Given the description of an element on the screen output the (x, y) to click on. 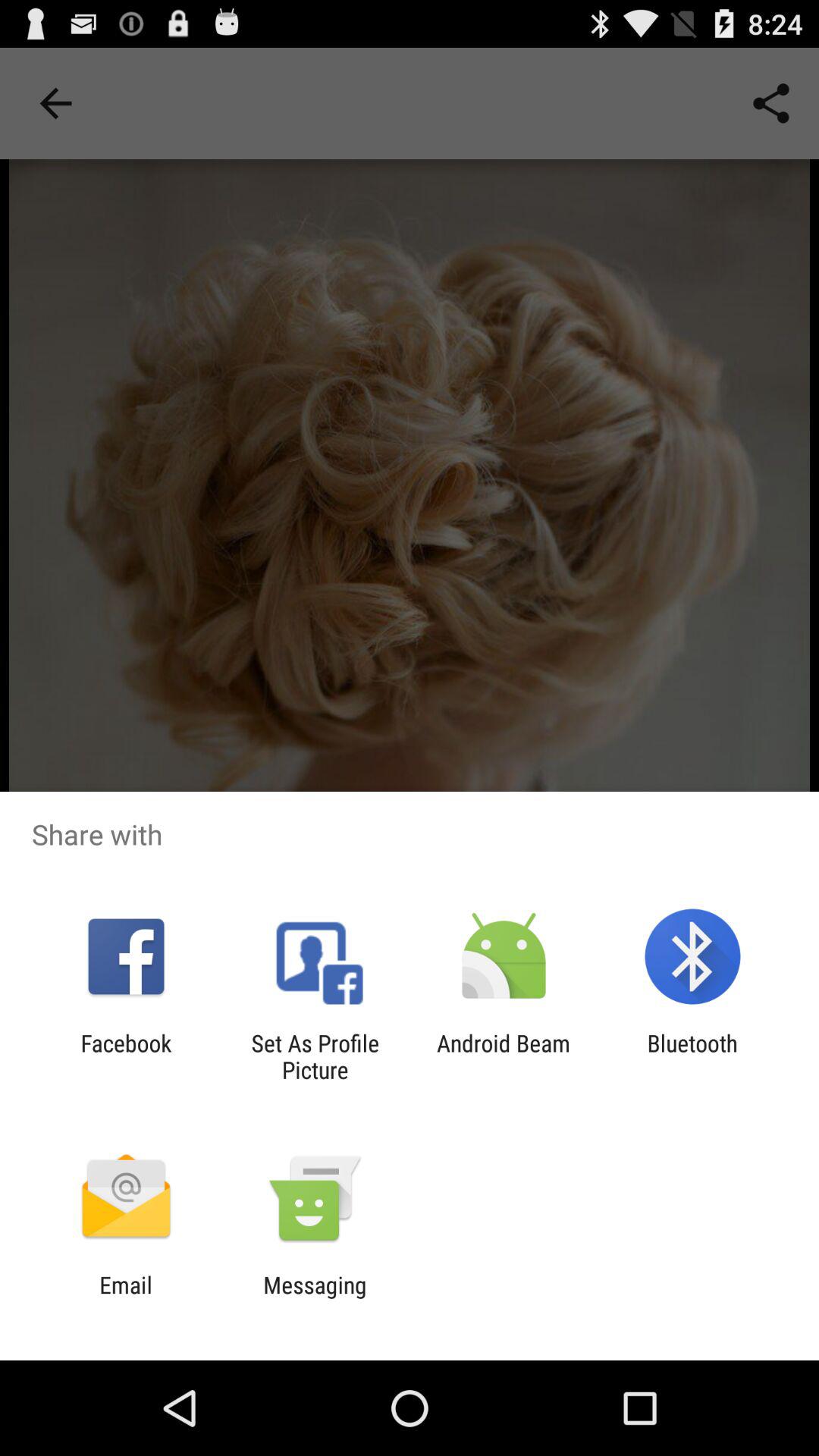
turn off the icon to the right of android beam (692, 1056)
